Given the description of an element on the screen output the (x, y) to click on. 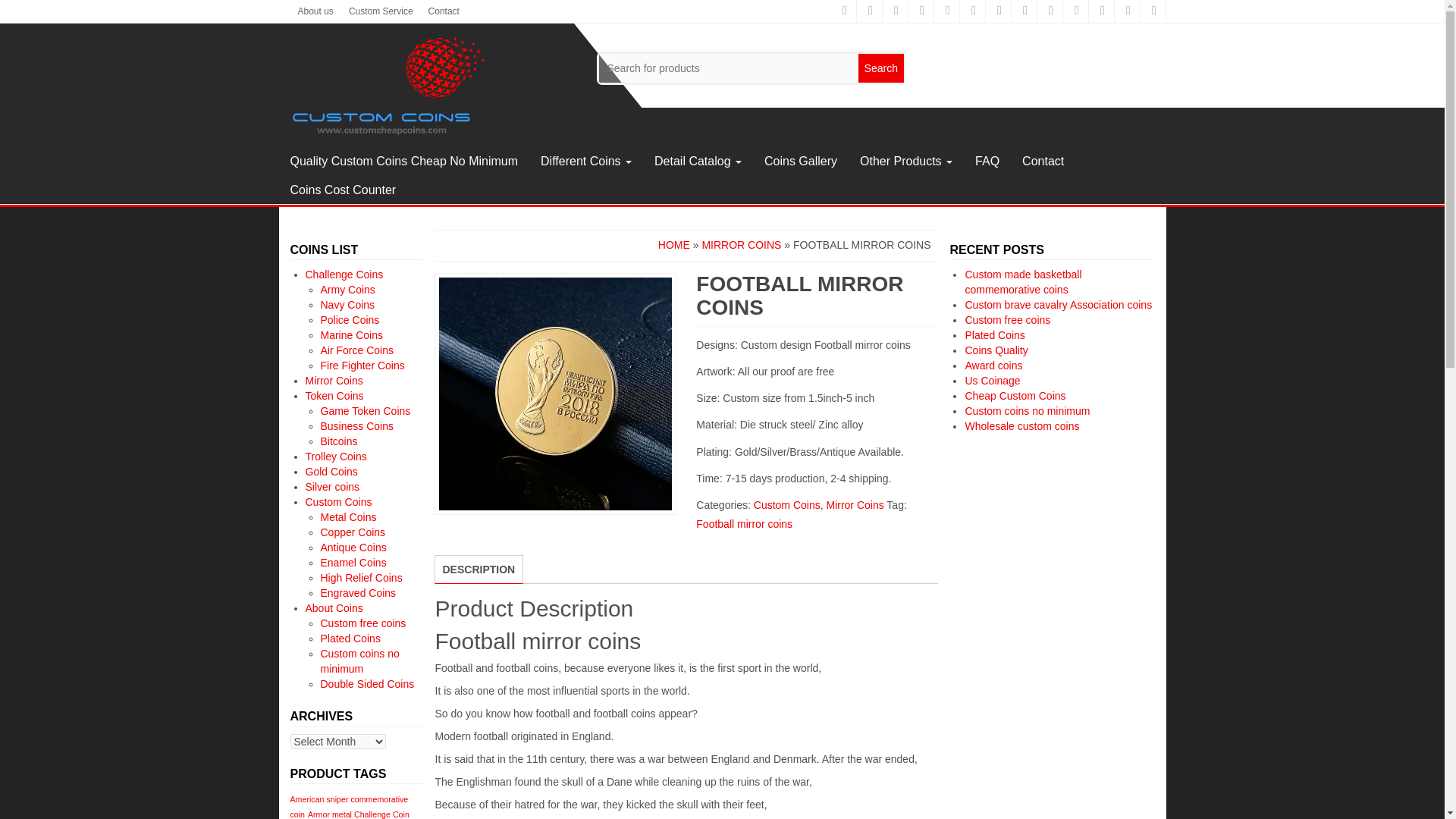
Different Coins (586, 161)
About us (314, 11)
Quality Custom Coins Cheap No Minimum (404, 161)
Search (880, 68)
Contact (443, 11)
Custom Service (380, 11)
Custom Coins (386, 85)
